Given the description of an element on the screen output the (x, y) to click on. 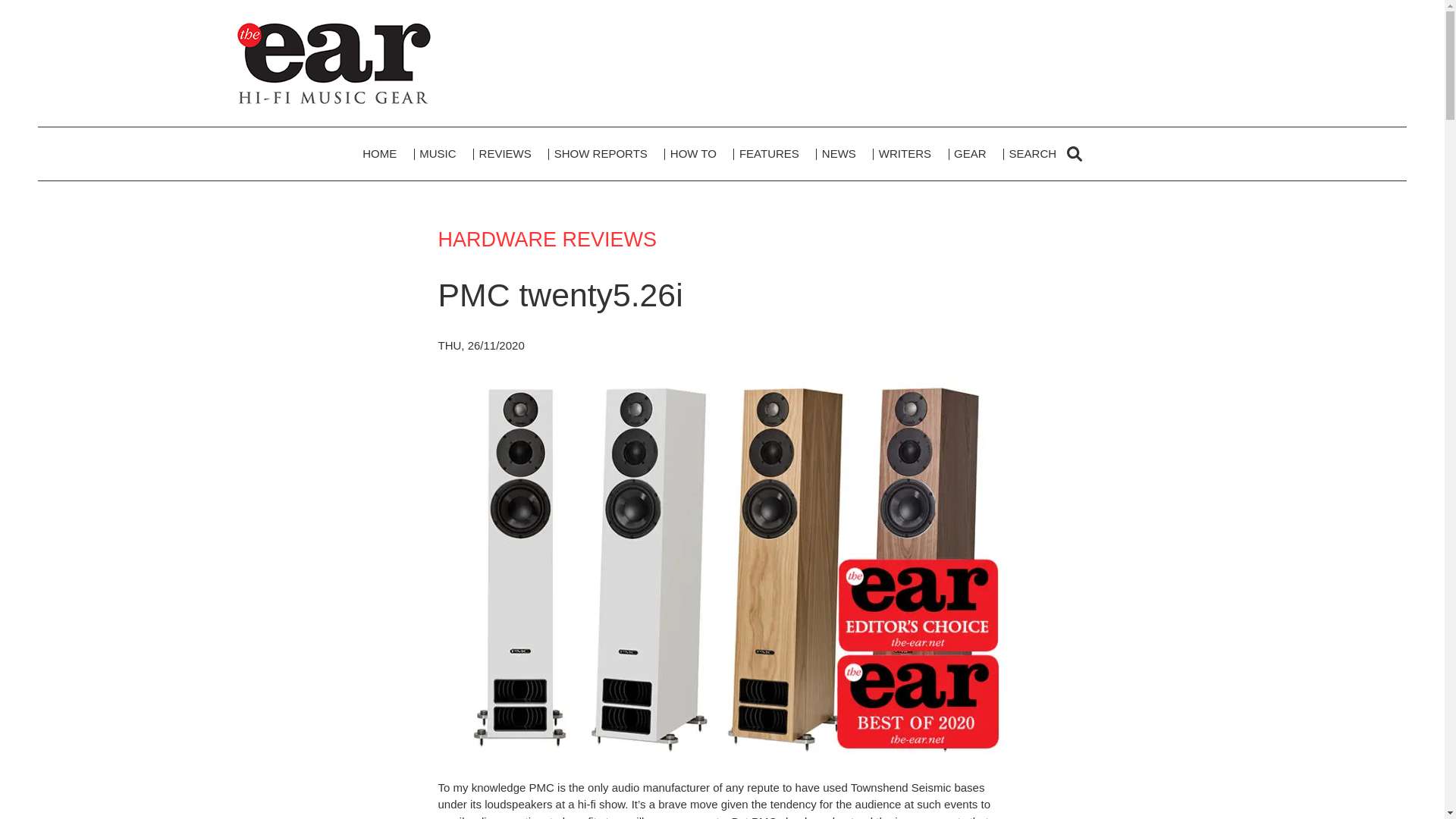
SEARCH (1045, 153)
REVIEWS (505, 153)
WRITERS (905, 153)
SHOW REPORTS (600, 153)
FEATURES (769, 153)
